Given the description of an element on the screen output the (x, y) to click on. 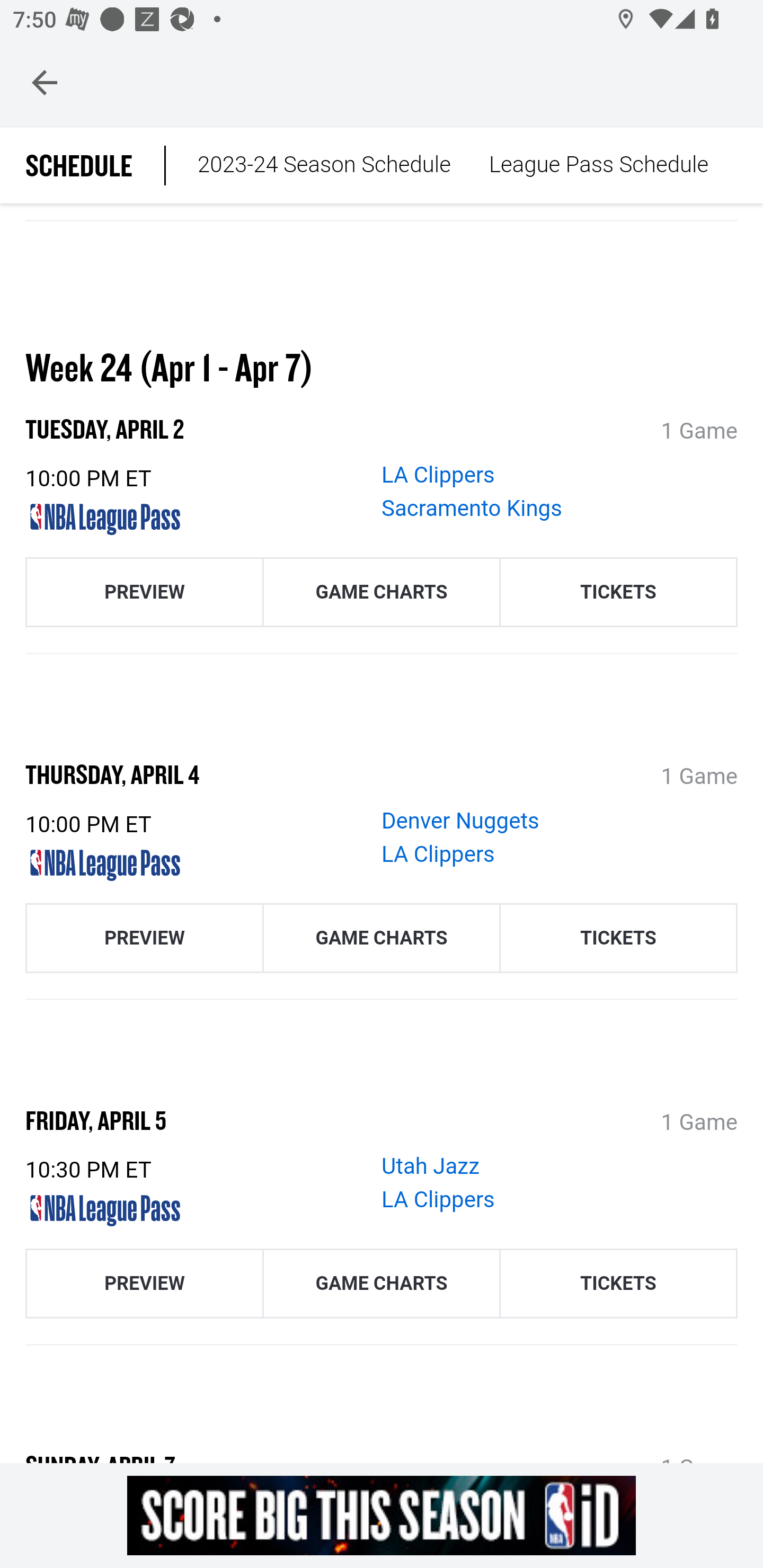
Navigate up (44, 82)
WATCH (144, 160)
2023-24 Season Schedule (323, 166)
League Pass Schedule (598, 166)
LA Clippers (438, 476)
Sacramento Kings (472, 509)
league-pass-stream (196, 520)
PREVIEW (144, 593)
GAME CHARTS (381, 593)
TICKETS (618, 593)
Denver Nuggets (460, 821)
LA Clippers (438, 854)
league-pass-stream (196, 864)
PREVIEW (144, 938)
GAME CHARTS (381, 938)
TICKETS (618, 938)
Utah Jazz (430, 1167)
LA Clippers (438, 1200)
league-pass-stream (196, 1210)
PREVIEW (144, 1284)
GAME CHARTS (381, 1284)
TICKETS (618, 1284)
g5nqqygr7owph (381, 1515)
